Given the description of an element on the screen output the (x, y) to click on. 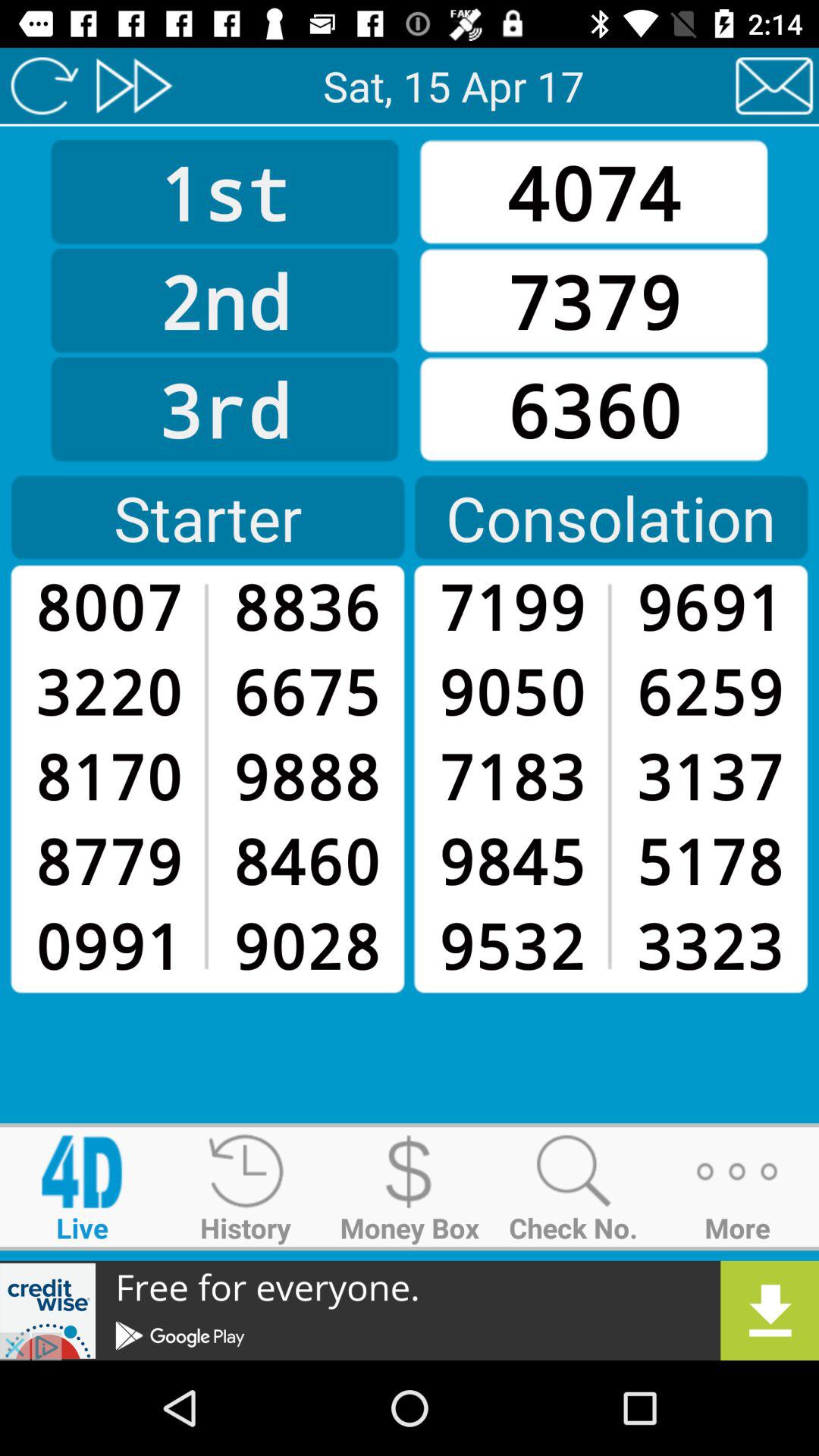
consolation page (133, 85)
